Given the description of an element on the screen output the (x, y) to click on. 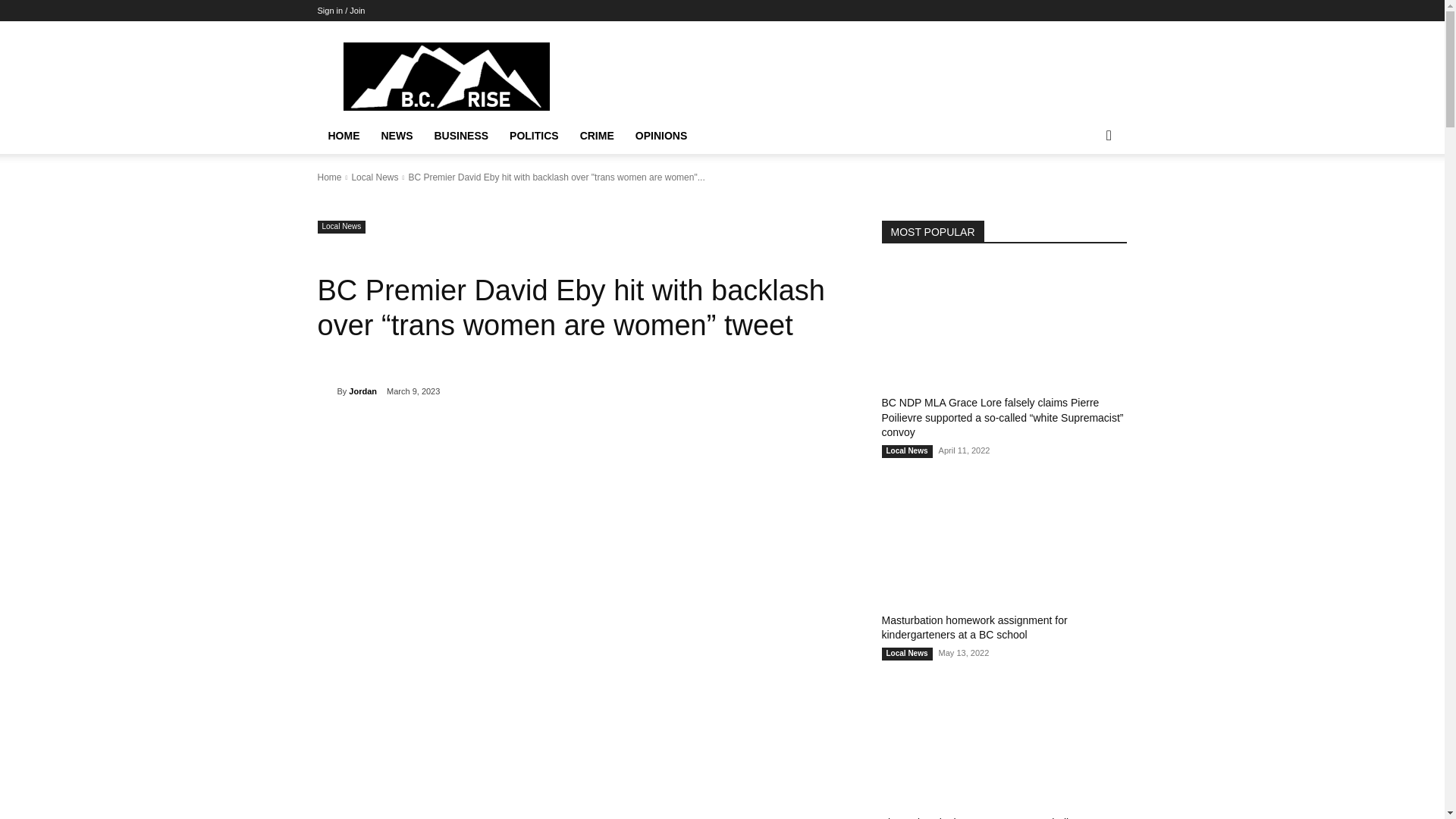
POLITICS (534, 135)
NEWS (396, 135)
OPINIONS (660, 135)
HOME (343, 135)
Search (1085, 196)
Local News (341, 226)
Jordan (326, 391)
Local News (373, 176)
View all posts in Local News (373, 176)
CRIME (596, 135)
